Given the description of an element on the screen output the (x, y) to click on. 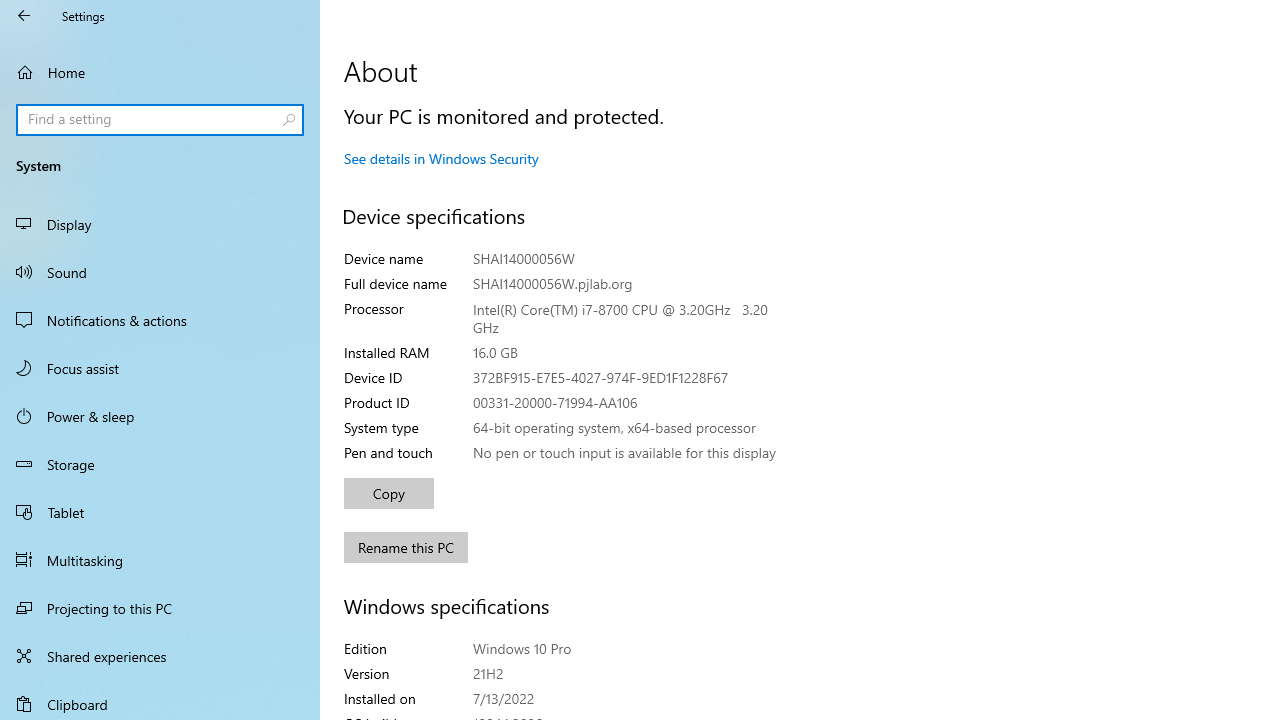
Copy (388, 493)
Tablet (160, 511)
Projecting to this PC (160, 607)
Multitasking (160, 559)
Power & sleep (160, 415)
Notifications & actions (160, 319)
Shared experiences (160, 655)
Display (160, 223)
Focus assist (160, 367)
Sound (160, 271)
Rename this PC (406, 547)
See details in Windows Security (441, 158)
